Given the description of an element on the screen output the (x, y) to click on. 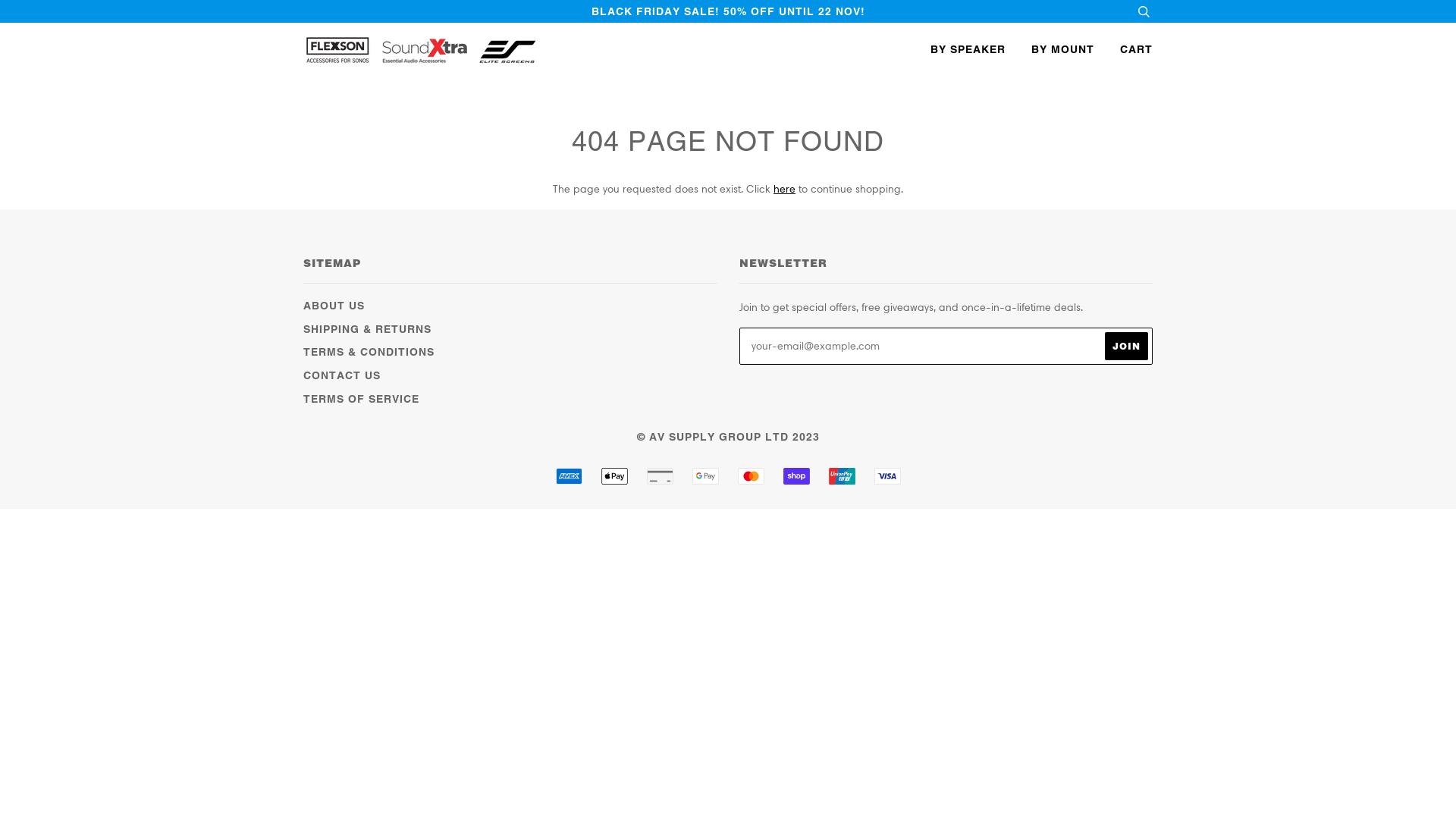
CART Element type: text (1124, 48)
SHIPPING & RETURNS Element type: text (367, 329)
CONTACT US Element type: text (341, 375)
BY SPEAKER Element type: text (963, 48)
Join Element type: text (1126, 346)
ABOUT US Element type: text (333, 305)
TERMS OF SERVICE Element type: text (361, 398)
TERMS & CONDITIONS Element type: text (368, 351)
BY MOUNT Element type: text (1051, 48)
here Element type: text (784, 188)
